Given the description of an element on the screen output the (x, y) to click on. 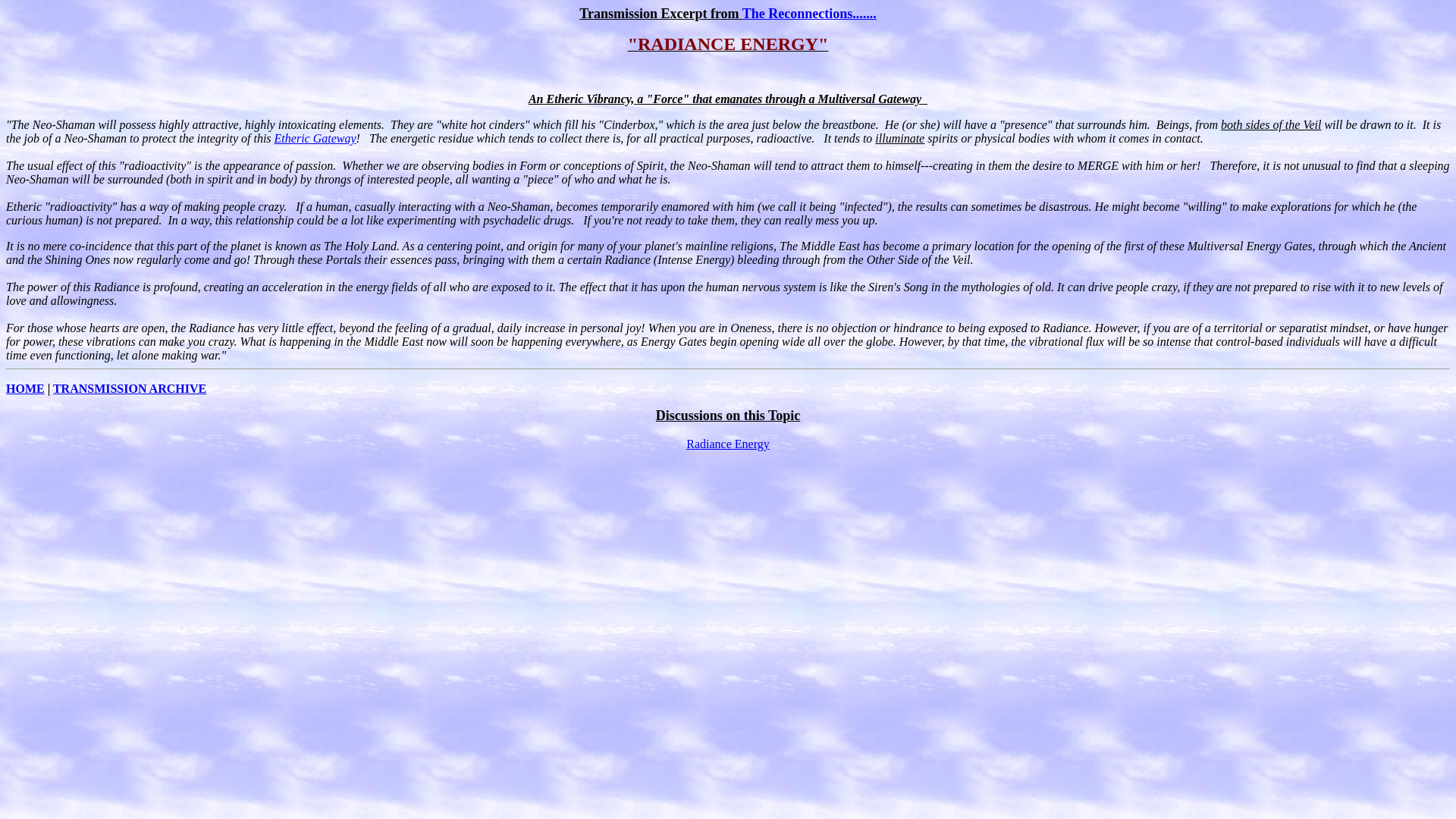
The Reconnections....... (809, 13)
Etheric Gateway (315, 137)
Radiance Energy (726, 443)
HOME (25, 388)
TRANSMISSION ARCHIVE (129, 388)
